Given the description of an element on the screen output the (x, y) to click on. 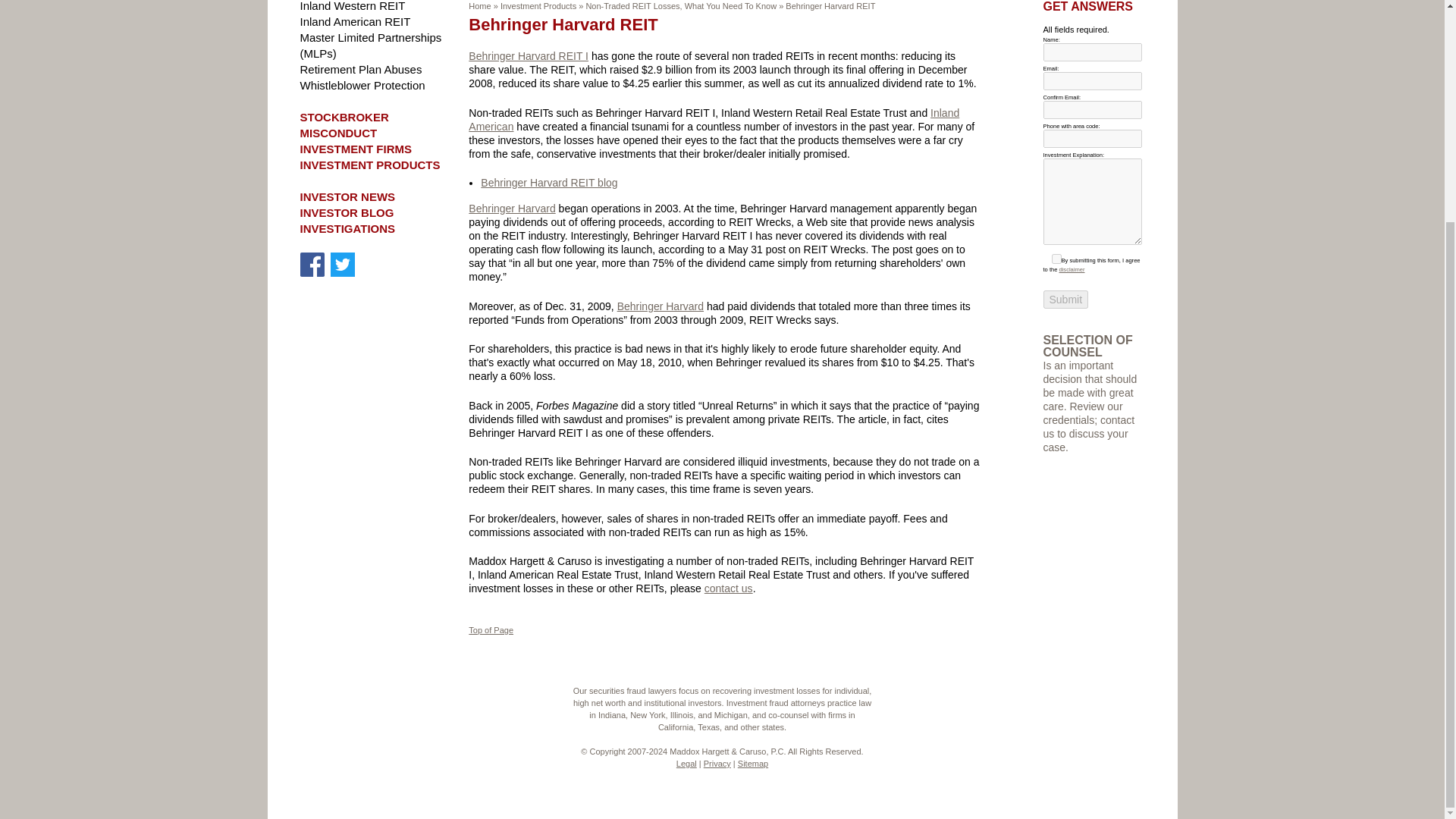
1 (1056, 258)
Top of Page (490, 629)
Behringer Harvard (511, 208)
Whistleblower Protection (362, 84)
Submit (1066, 299)
Inland American (713, 118)
Non-Traded REIT Losses, What You Need To Know (680, 5)
SELECTION OF COUNSEL (1087, 345)
Submit (1066, 299)
Behringer Harvard REIT blog (548, 182)
INVESTMENT FIRMS (355, 148)
Behringer Harvard (660, 306)
Behringer Harvard REIT I (528, 55)
disclaimer (1071, 269)
Home (479, 5)
